Given the description of an element on the screen output the (x, y) to click on. 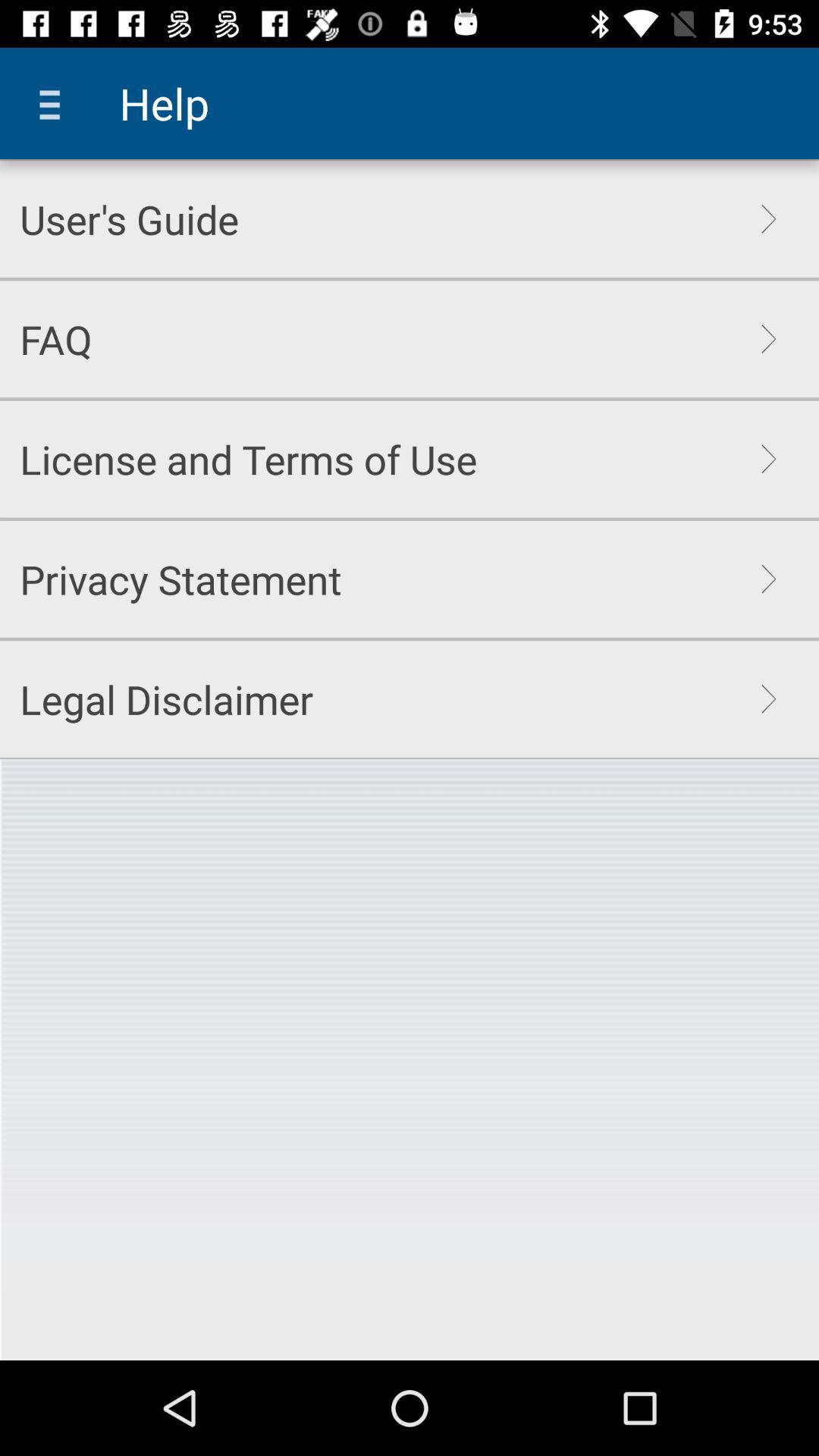
open item below the license and terms item (180, 578)
